Given the description of an element on the screen output the (x, y) to click on. 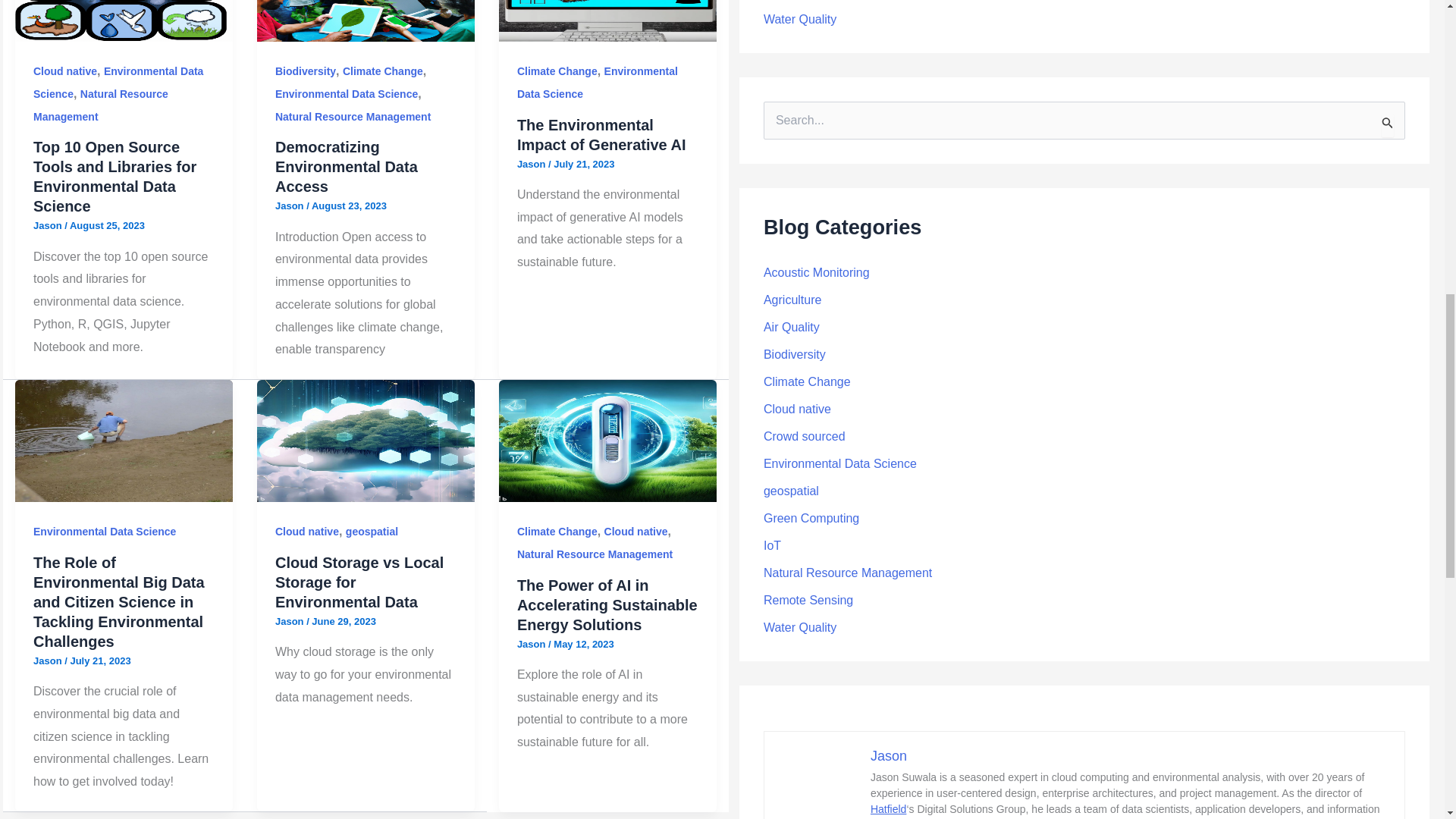
View all posts by Jason (290, 621)
Natural Resource Management (352, 116)
Climate Change (382, 70)
Biodiversity (305, 70)
View all posts by Jason (290, 205)
View all posts by Jason (532, 644)
View all posts by Jason (48, 225)
View all posts by Jason (532, 163)
View all posts by Jason (48, 660)
Environmental Data Science (346, 93)
